Given the description of an element on the screen output the (x, y) to click on. 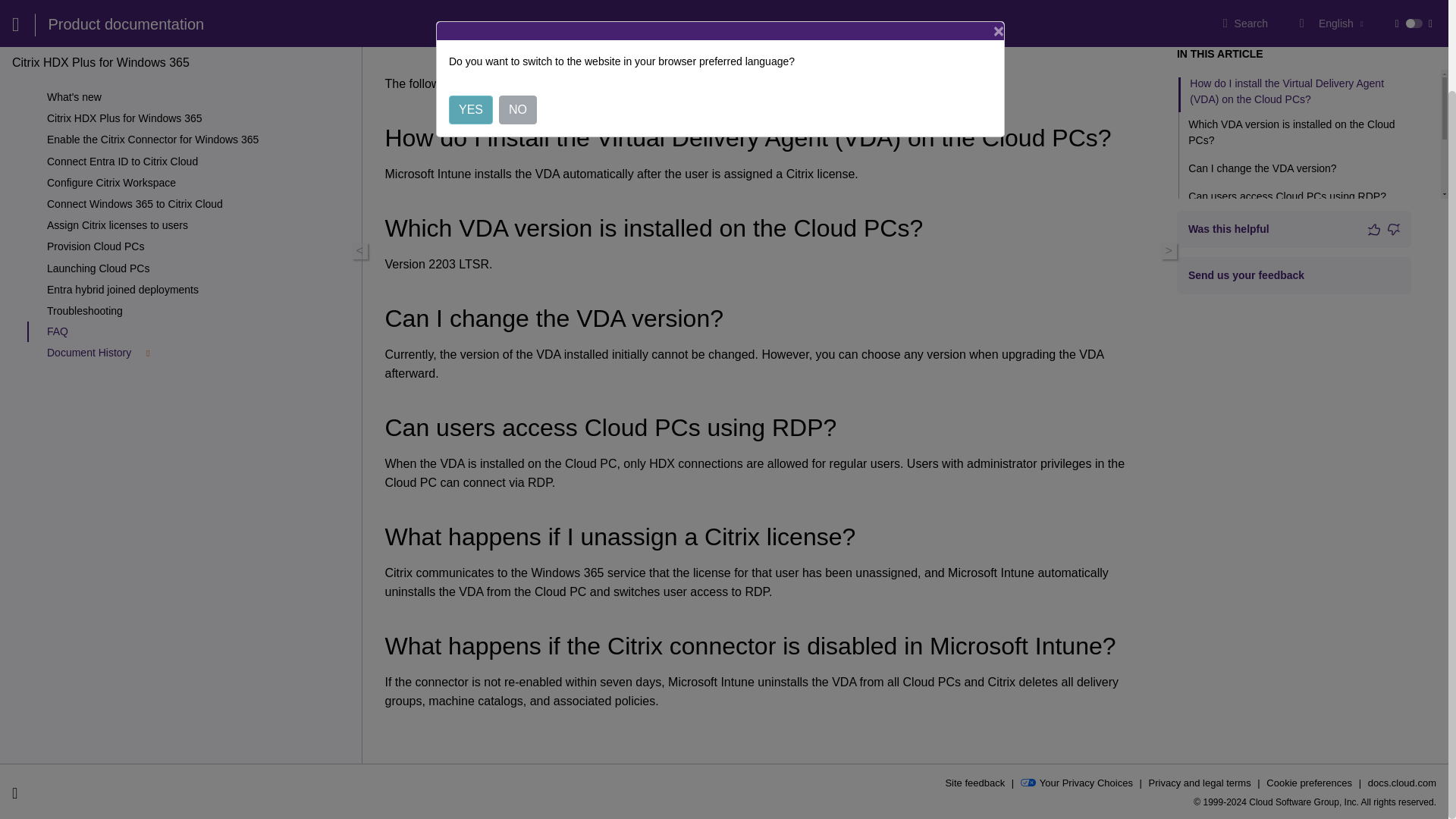
Launching Cloud PCs (200, 164)
Connect Entra ID to Citrix Cloud (200, 59)
Entra hybrid joined deployments (200, 187)
Assign Citrix licenses to users (200, 122)
Connect Windows 365 to Citrix Cloud (200, 101)
Citrix HDX Plus for Windows 365 (200, 15)
Enable the Citrix Connector for Windows 365 (200, 37)
Configure Citrix Workspace (200, 79)
Troubleshooting (200, 208)
